Given the description of an element on the screen output the (x, y) to click on. 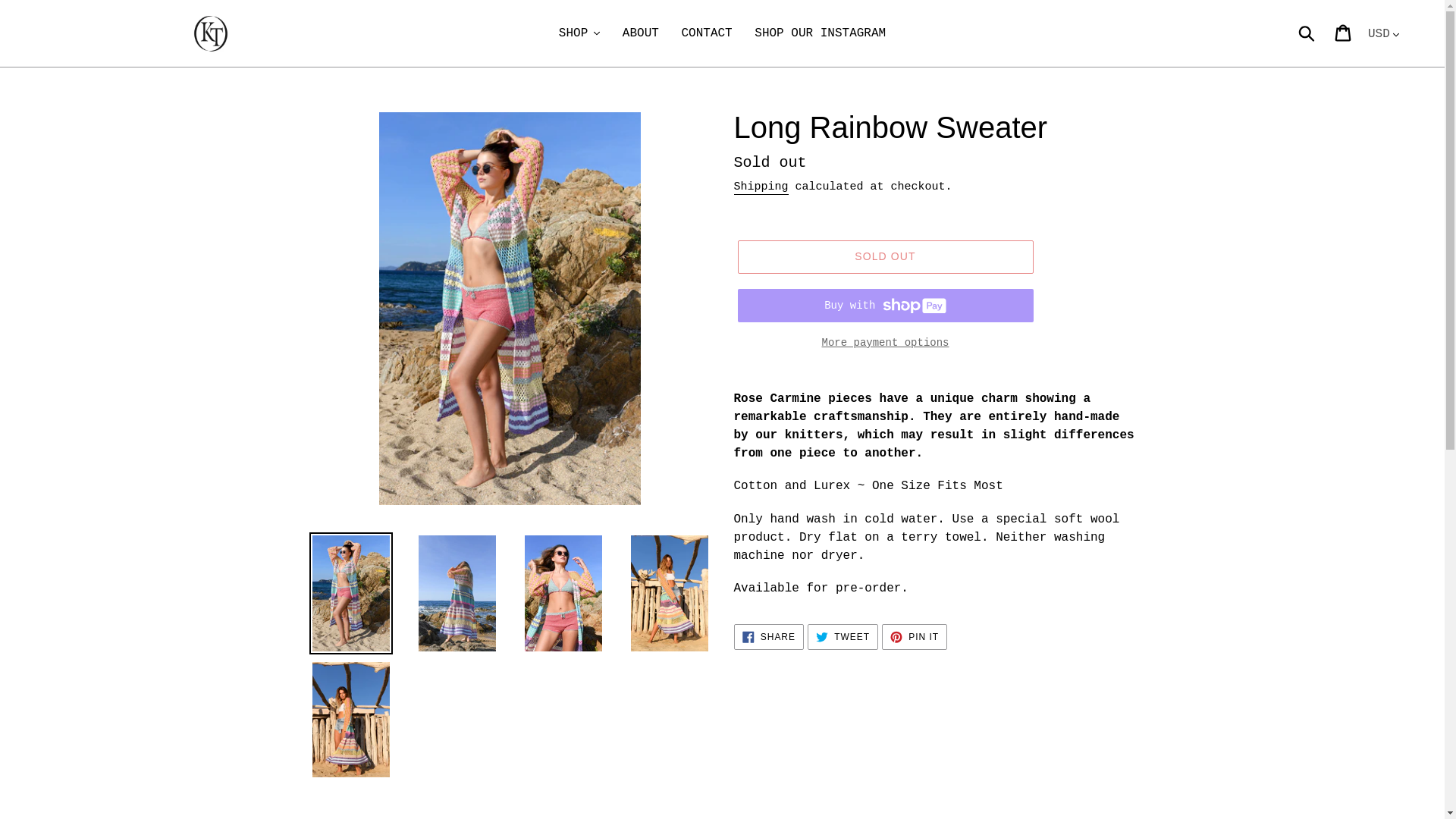
Cart (1343, 32)
Submit (1307, 32)
SHOP OUR INSTAGRAM (819, 33)
ABOUT (640, 33)
CONTACT (705, 33)
